Given the description of an element on the screen output the (x, y) to click on. 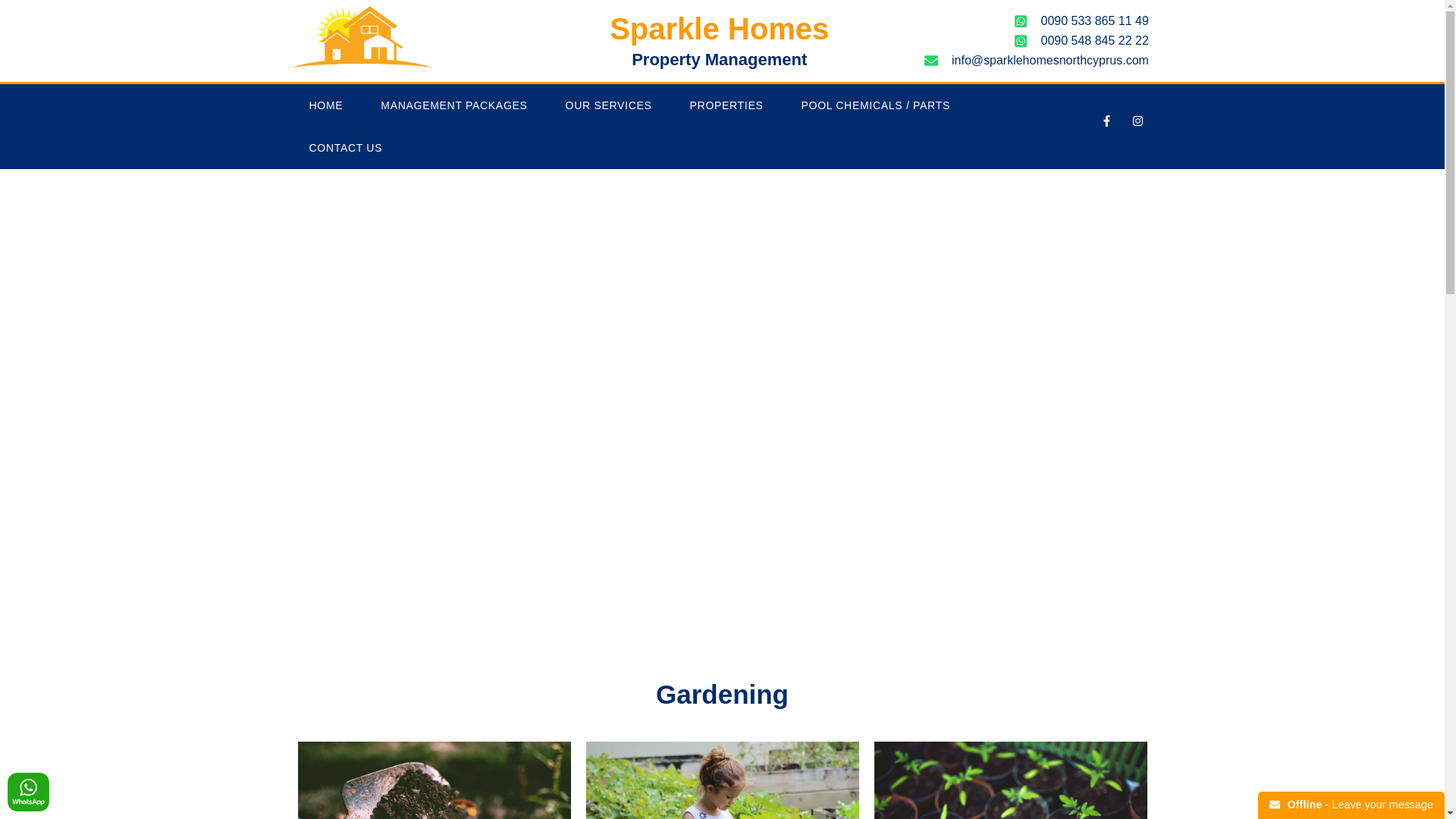
Property Management (718, 58)
0090 548 845 22 22 (1018, 40)
0090 533 865 11 49 (1018, 21)
CONTACT US (345, 147)
PROPERTIES (727, 105)
OUR SERVICES (609, 105)
Sparkle Homes (719, 28)
HOME (325, 105)
MANAGEMENT PACKAGES (453, 105)
